Given the description of an element on the screen output the (x, y) to click on. 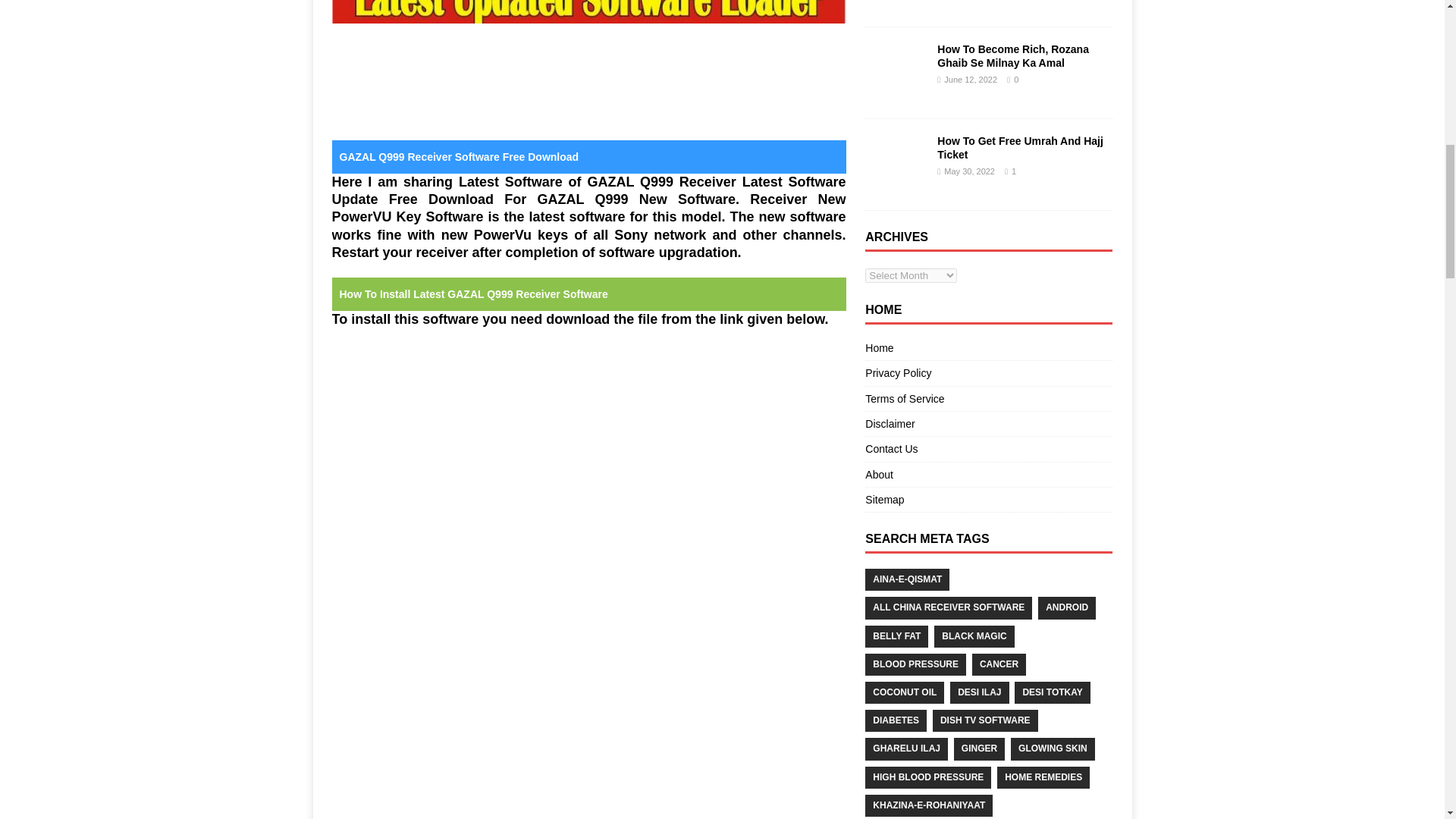
GAZAL Q999 Receiver Software Free Download (588, 11)
